Given the description of an element on the screen output the (x, y) to click on. 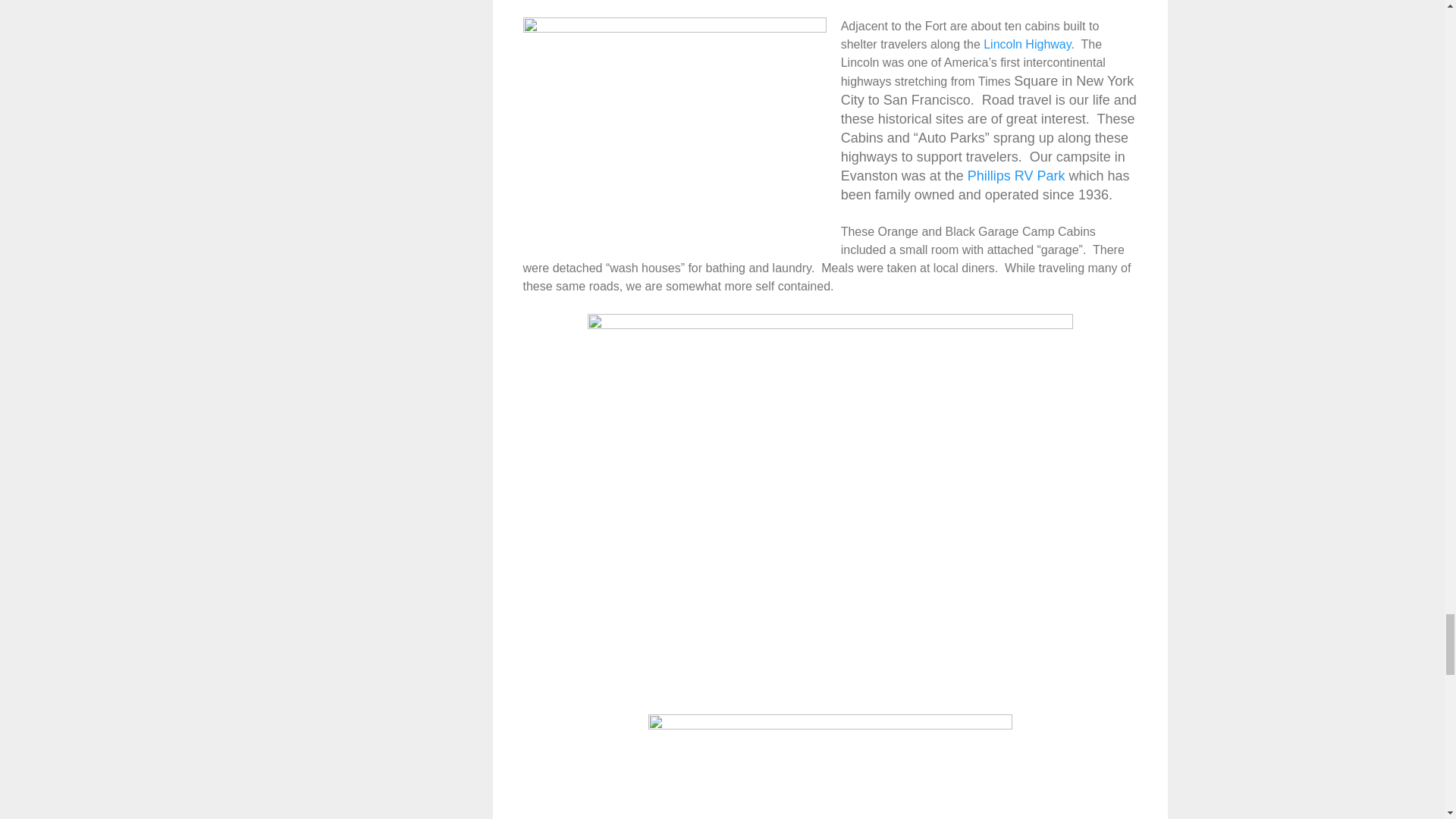
Lincoln Highway (1027, 43)
Phillips RV Park (1016, 175)
